Given the description of an element on the screen output the (x, y) to click on. 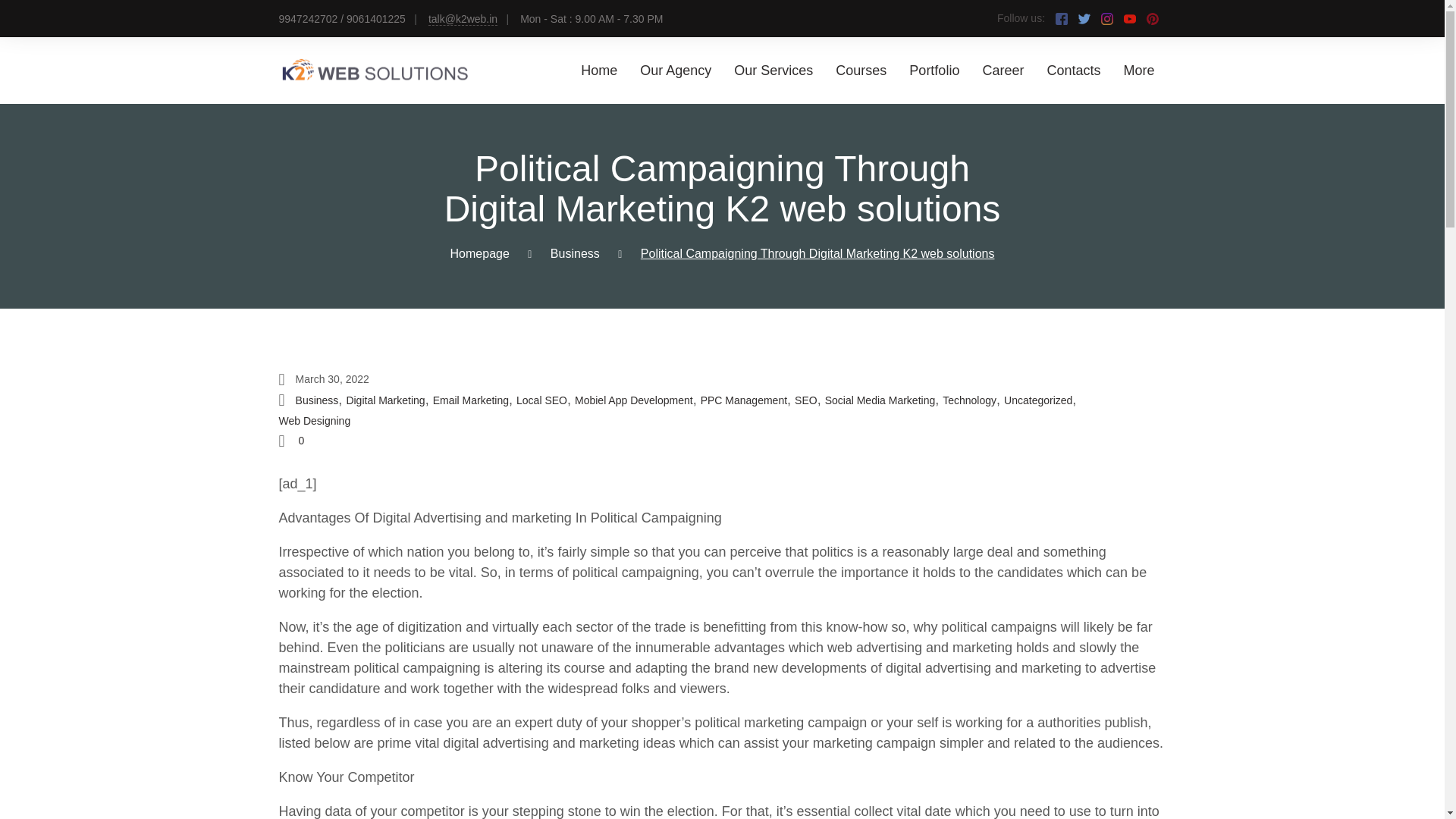
Courses (860, 69)
Business (574, 253)
Our Services (772, 69)
Our Agency (675, 69)
Career (1002, 69)
Portfolio (933, 69)
Contacts (1073, 69)
More (1138, 69)
Home (598, 69)
Business (317, 400)
Homepage (479, 253)
